Given the description of an element on the screen output the (x, y) to click on. 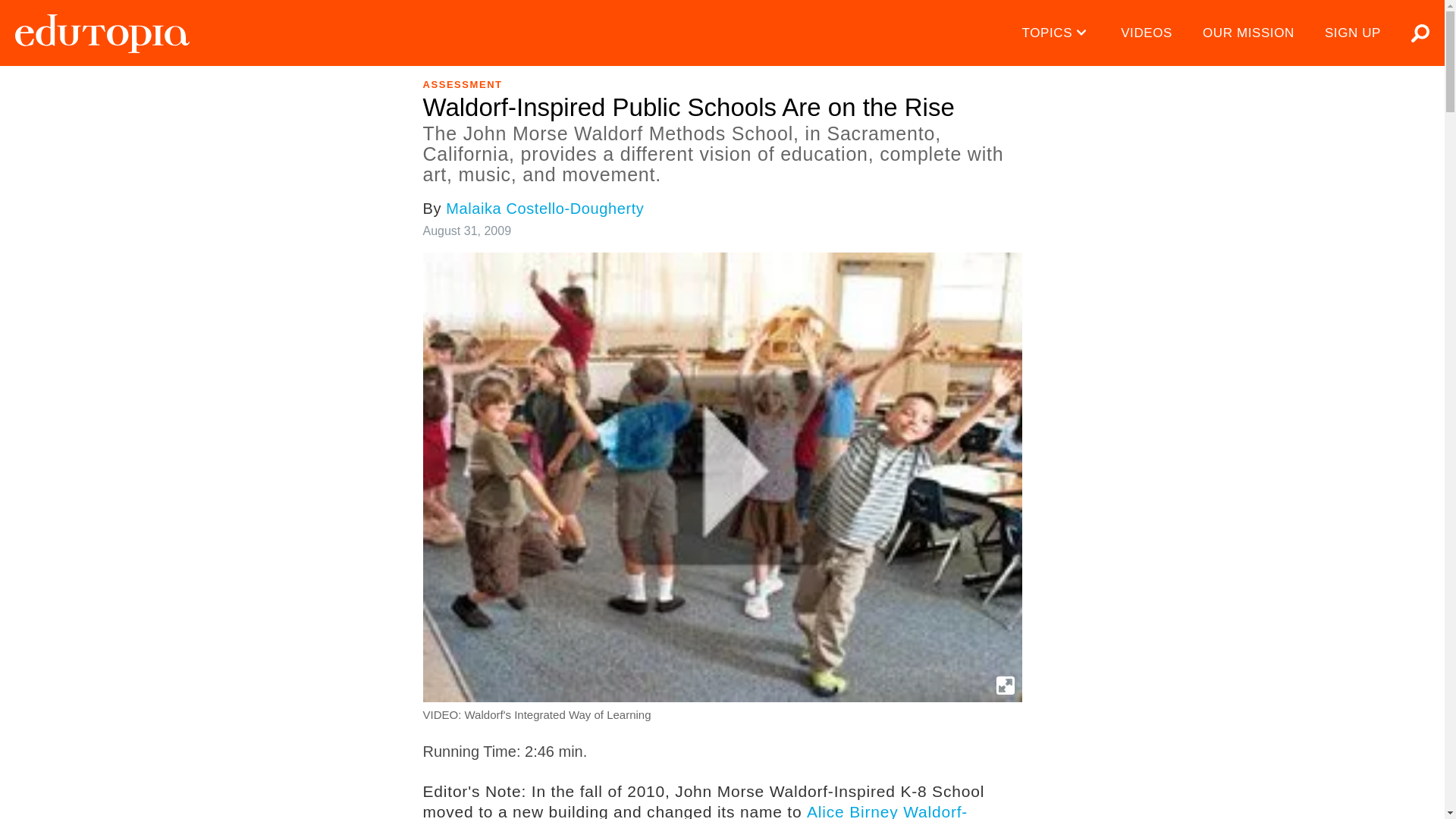
TOPICS (1056, 33)
Malaika Costello-Dougherty (544, 208)
OUR MISSION (1248, 33)
Alice Birney Waldorf-Inspired K-8 School (695, 811)
Edutopia (101, 33)
VIDEOS (1146, 33)
Edutopia (101, 33)
SIGN UP (1352, 33)
